Given the description of an element on the screen output the (x, y) to click on. 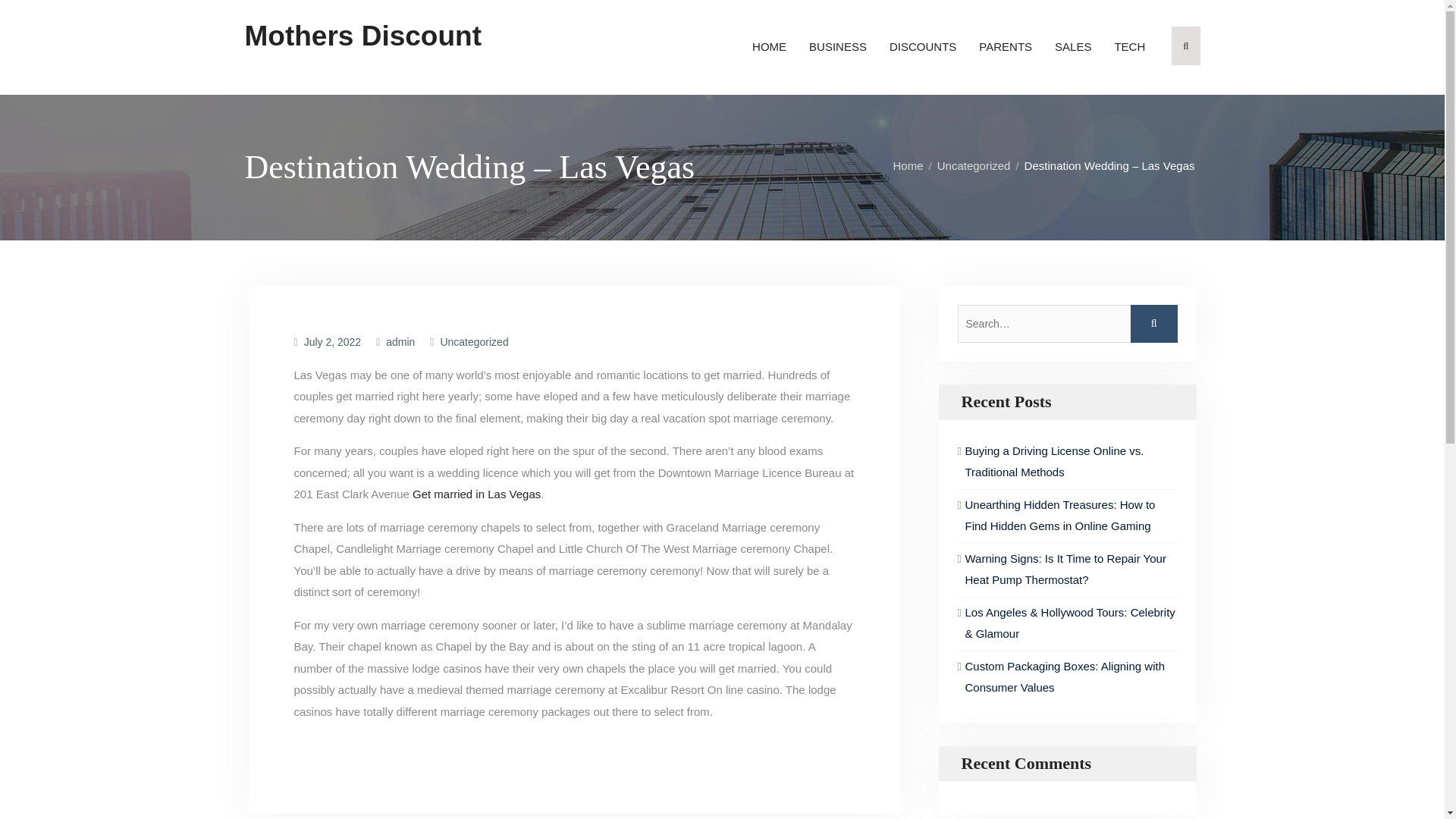
Uncategorized (473, 341)
July 2, 2022 (332, 341)
Get married in Las Vegas (476, 493)
Home (912, 164)
Buying a Driving License Online vs. Traditional Methods (1052, 461)
TECH (1129, 47)
Mothers Discount (362, 35)
admin (399, 341)
BUSINESS (837, 47)
